Given the description of an element on the screen output the (x, y) to click on. 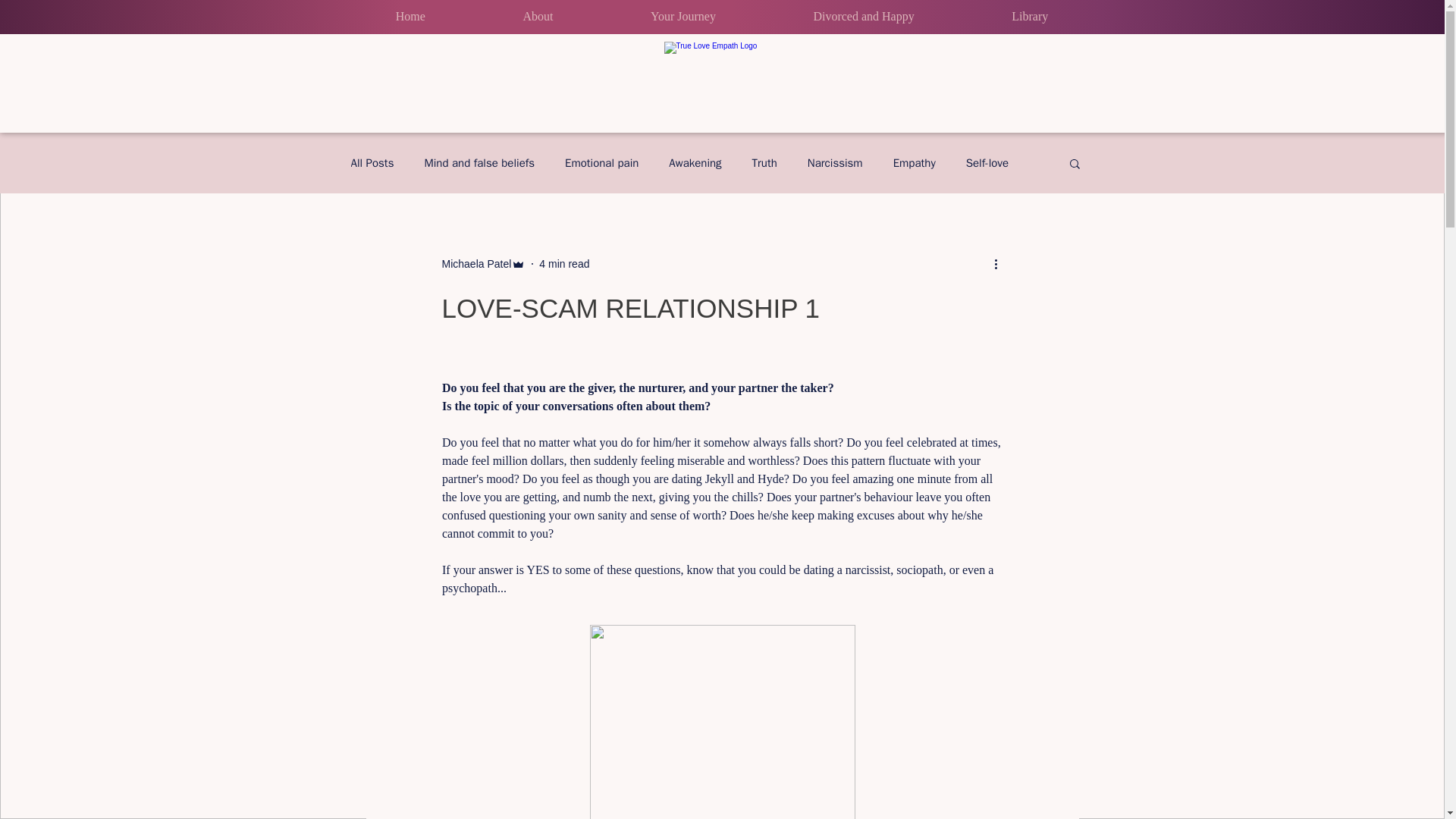
Michaela Patel (476, 263)
Empathy (914, 163)
Your Journey (682, 15)
Narcissism (835, 163)
Truth (764, 163)
the taker (803, 387)
About (537, 15)
Awakening (694, 163)
Library (1029, 15)
4 min read (563, 263)
